Given the description of an element on the screen output the (x, y) to click on. 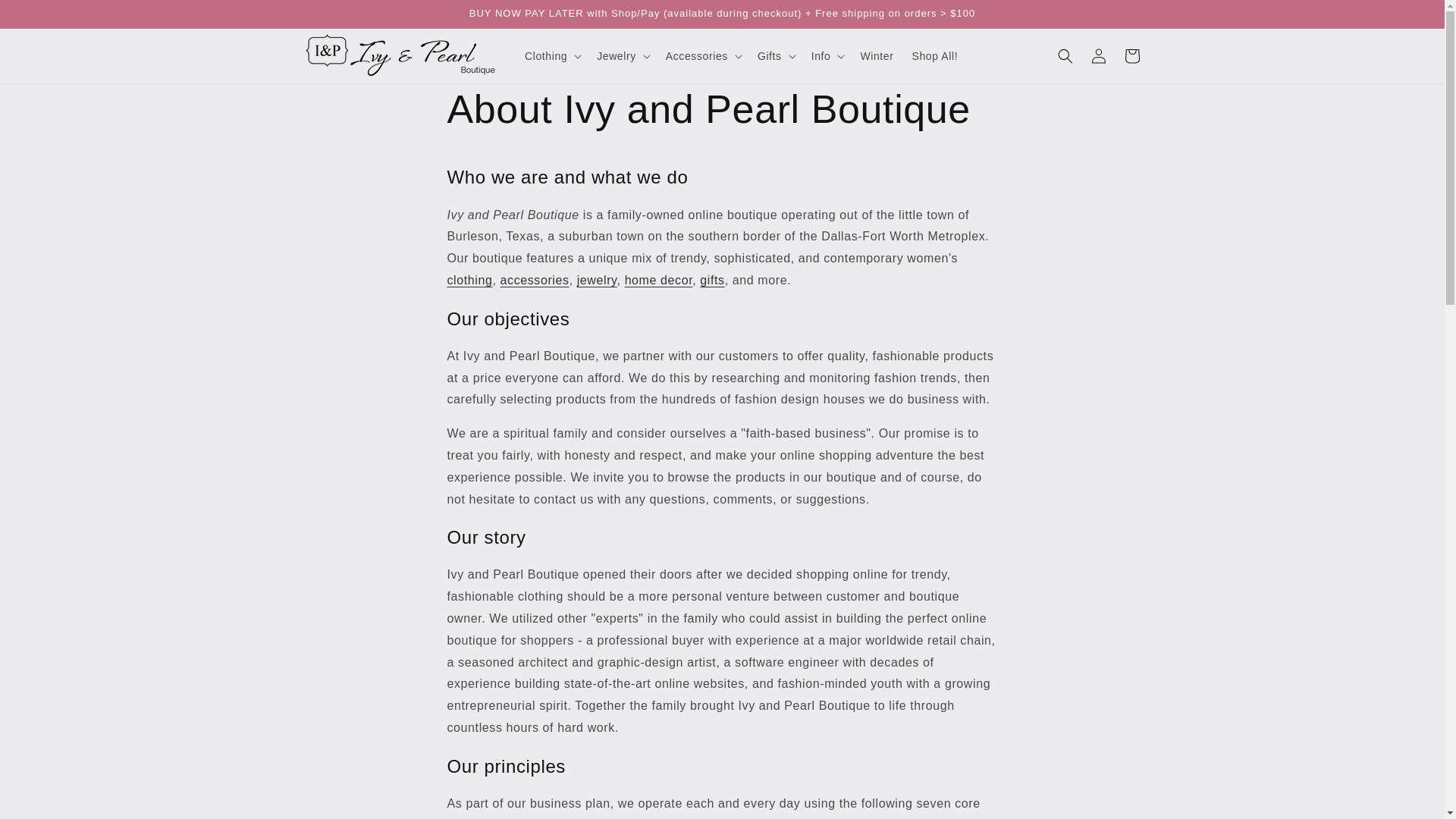
Skip to content (45, 17)
